Given the description of an element on the screen output the (x, y) to click on. 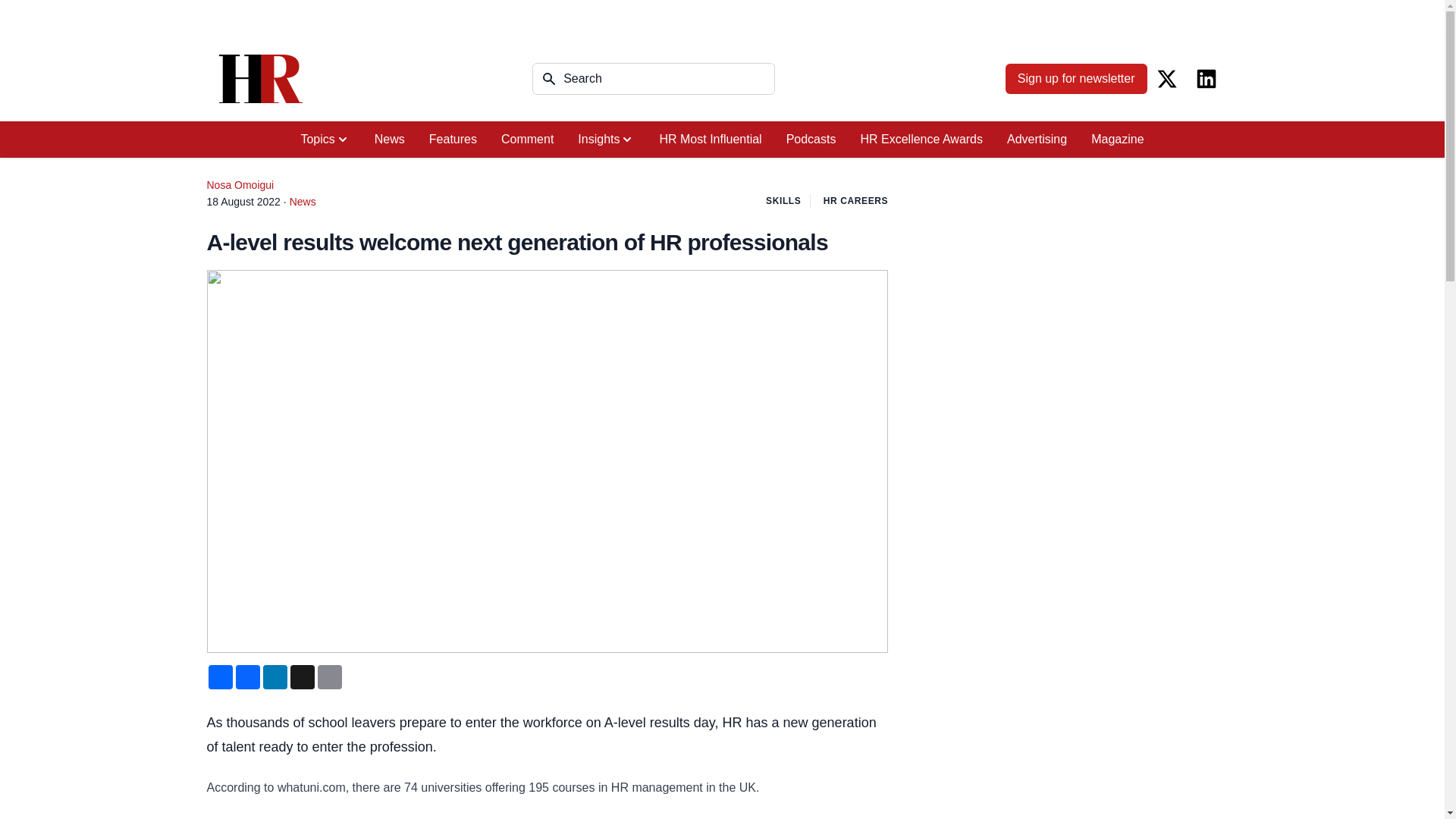
Topics (324, 139)
HR Excellence Awards (920, 139)
News (389, 139)
Insights (606, 139)
Sign up for newsletter (1076, 78)
Comment (527, 139)
HR Most Influential (709, 139)
Features (452, 139)
Podcasts (811, 139)
